Given the description of an element on the screen output the (x, y) to click on. 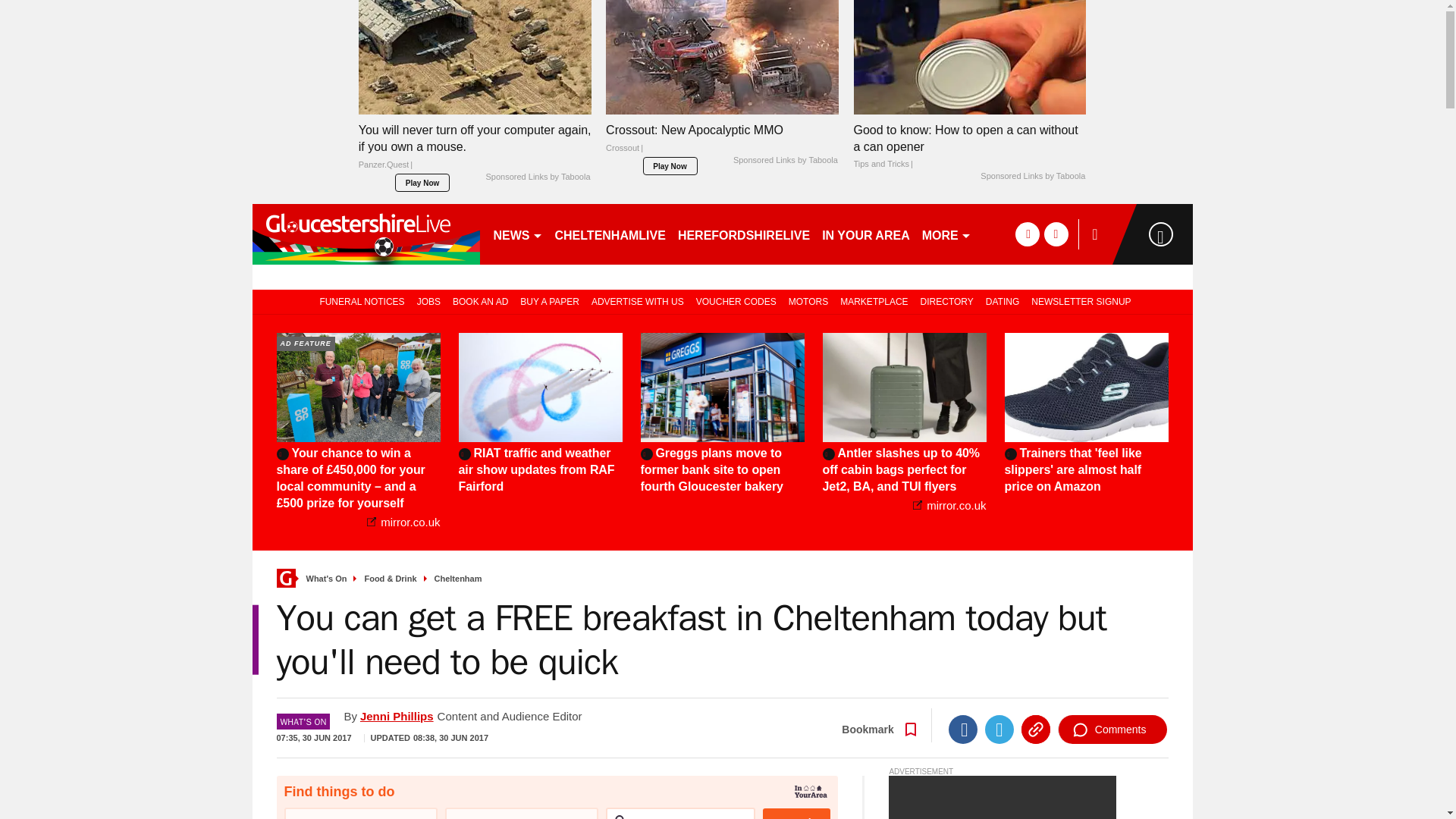
twitter (1055, 233)
gloucestershirelive (365, 233)
Sponsored Links by Taboola (536, 176)
Play Now (421, 182)
MORE (945, 233)
Comments (1112, 728)
Play Now (670, 166)
HEREFORDSHIRELIVE (743, 233)
Sponsored Links by Taboola (1031, 176)
facebook (1026, 233)
Crossout: New Apocalyptic MMO (721, 143)
Good to know: How to open a can without a can opener (969, 57)
Facebook (962, 728)
Sponsored Links by Taboola (785, 160)
